Given the description of an element on the screen output the (x, y) to click on. 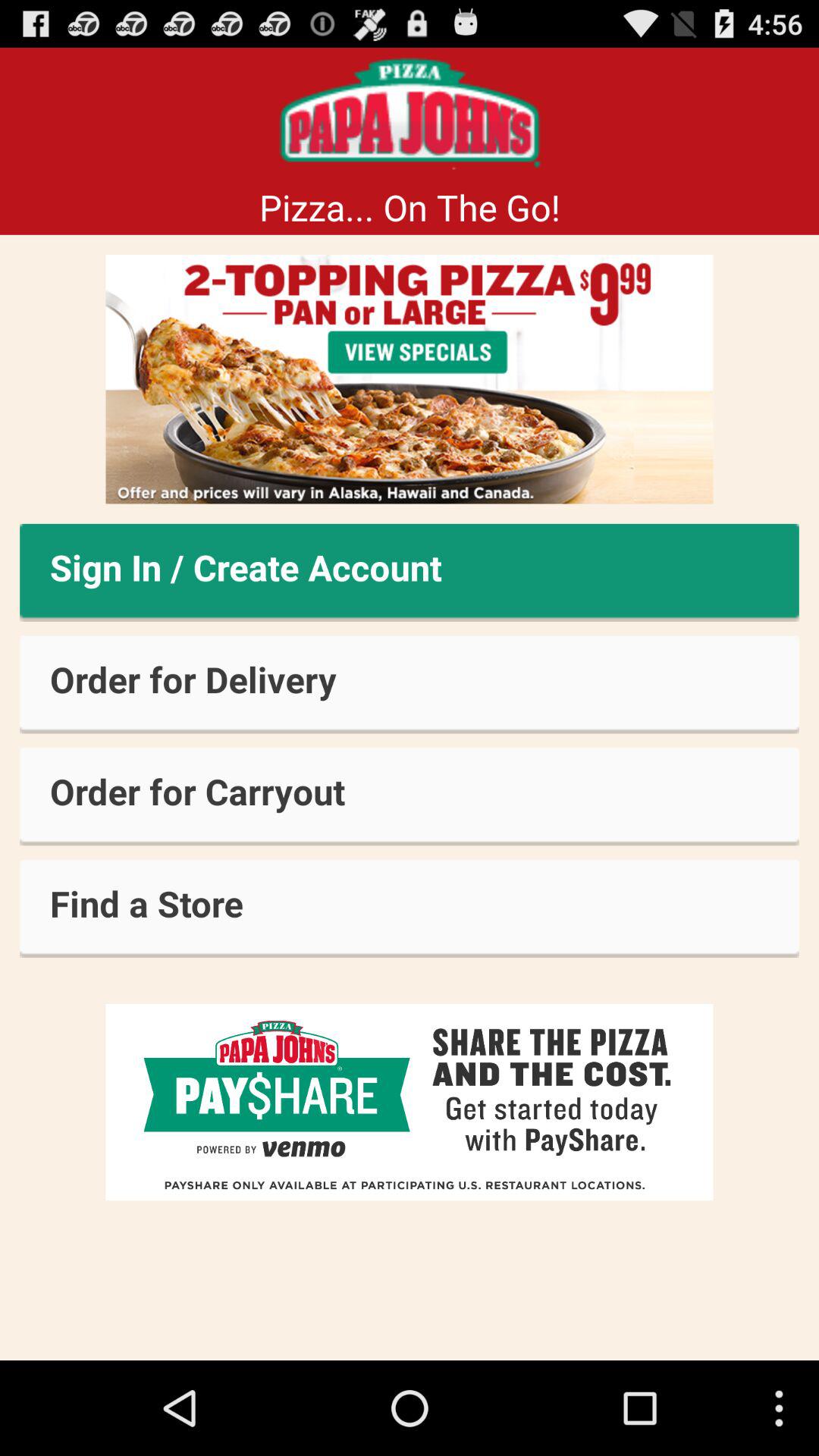
view specials (409, 378)
